Given the description of an element on the screen output the (x, y) to click on. 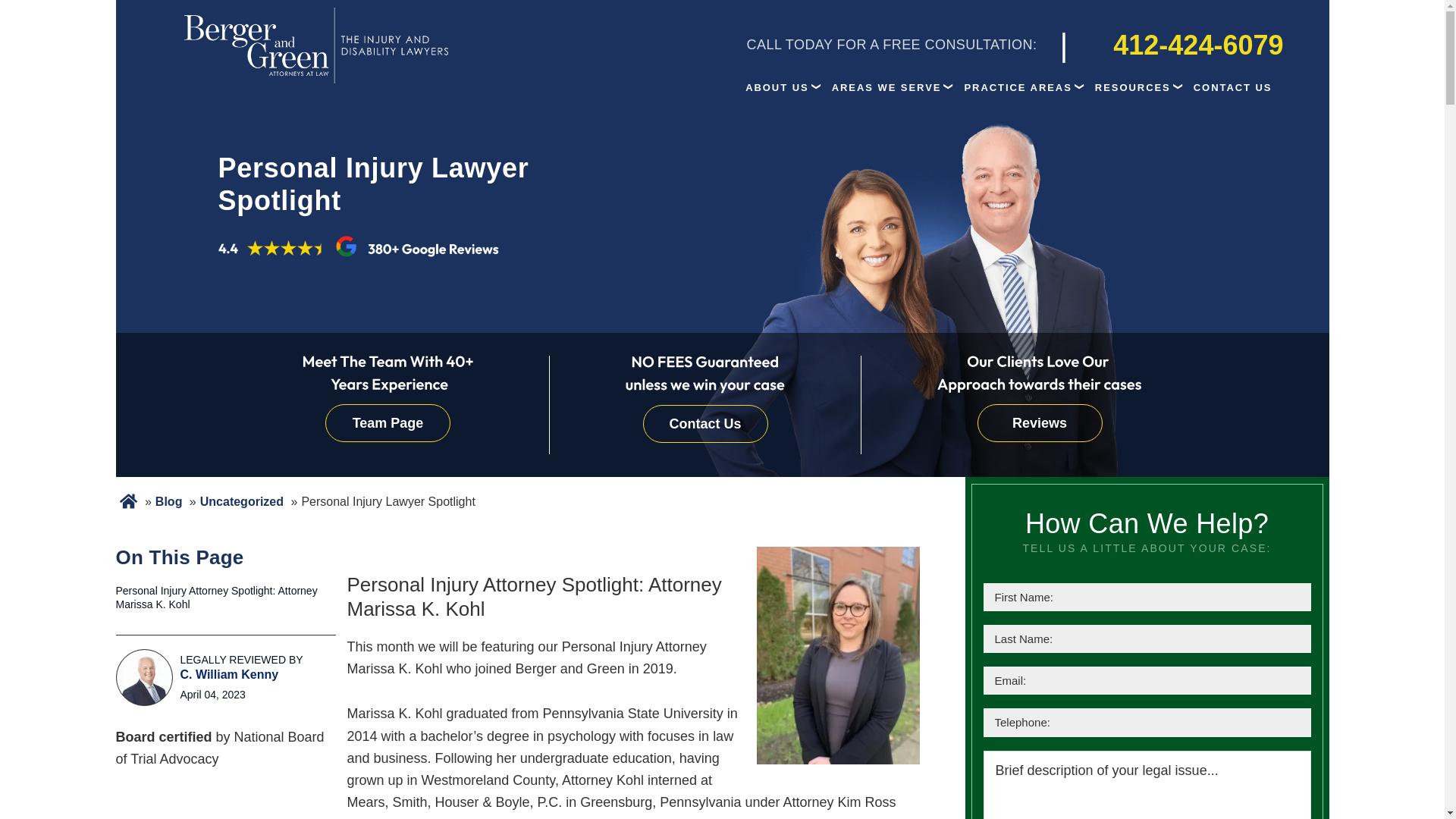
AREAS WE SERVE (887, 87)
RESOURCES (1132, 87)
ABOUT US (777, 87)
Personal Injury Attorney Spotlight: Attorney Marissa K. Kohl (224, 596)
PRACTICE AREAS (1017, 87)
C. William Kenny (143, 677)
